Given the description of an element on the screen output the (x, y) to click on. 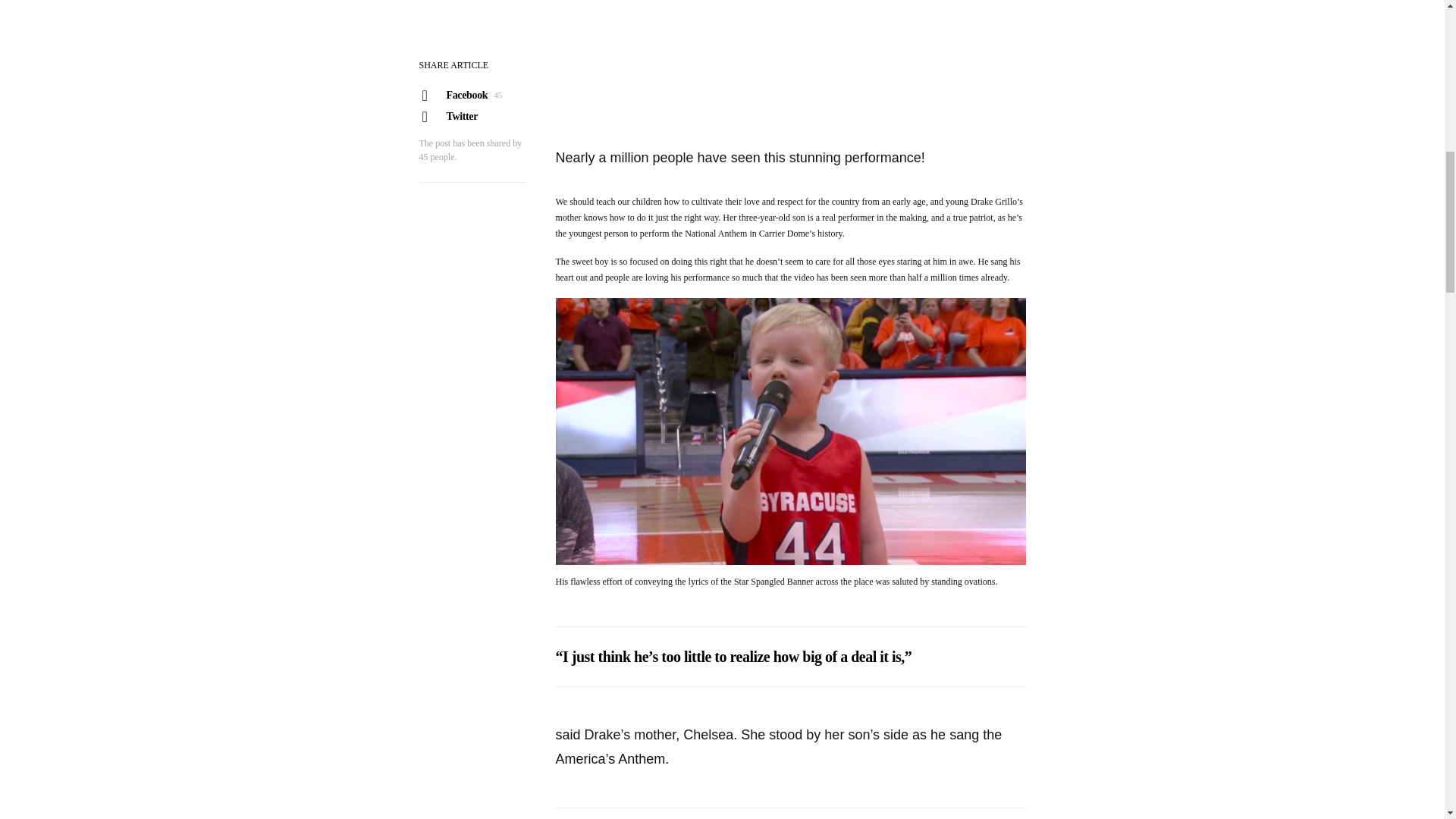
Advertisement (789, 60)
